Given the description of an element on the screen output the (x, y) to click on. 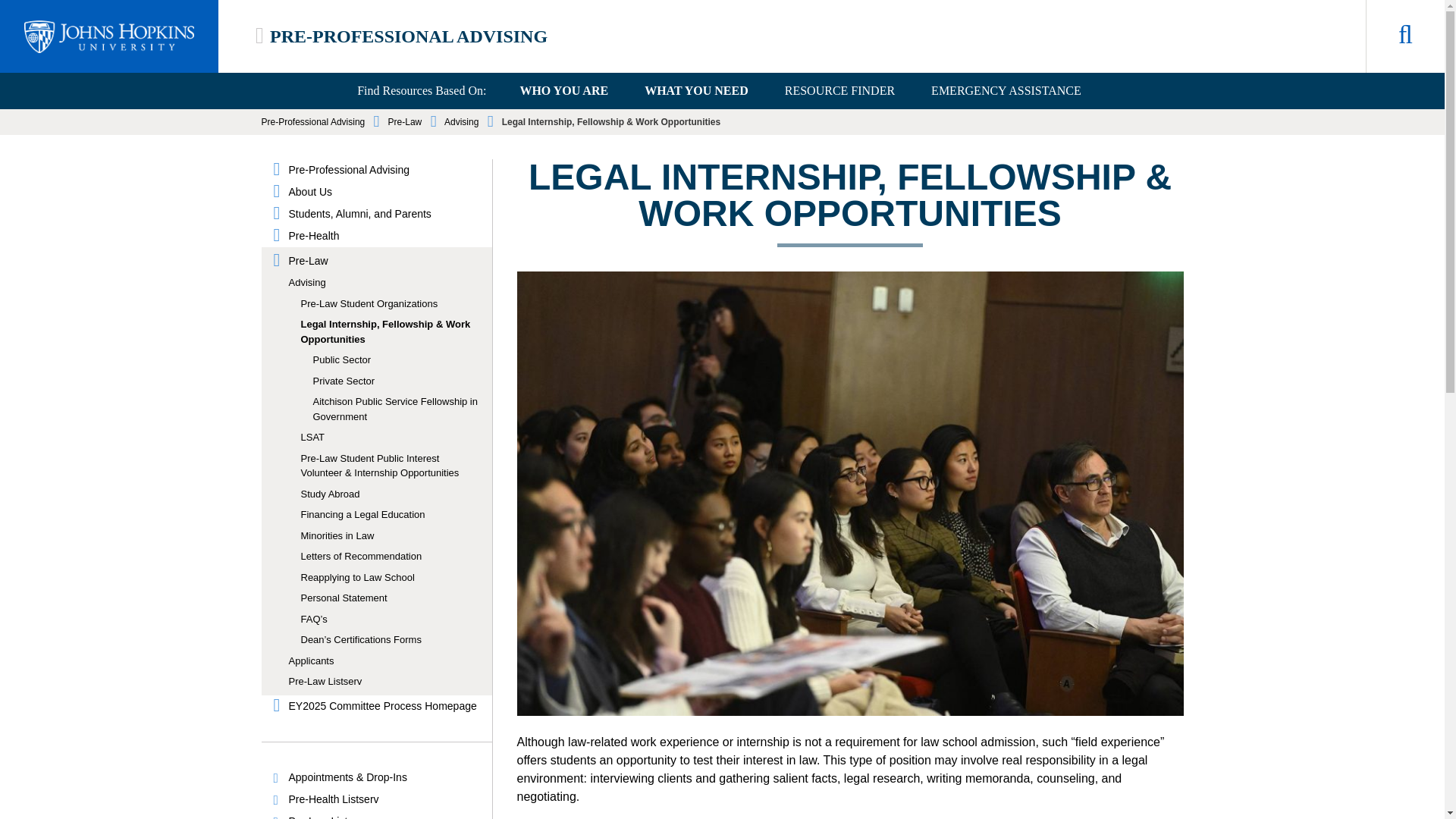
WHAT YOU NEED (696, 90)
Advising (461, 122)
Pre-Professional Advising (312, 122)
WHO YOU ARE (563, 90)
RESOURCE FINDER (839, 90)
Students, Alumni, and Parents (383, 213)
Pre-Law (405, 122)
Pre-Professional Advising (383, 170)
PRE-PROFESSIONAL ADVISING (408, 35)
About Us (383, 191)
EMERGENCY ASSISTANCE (1005, 90)
